Given the description of an element on the screen output the (x, y) to click on. 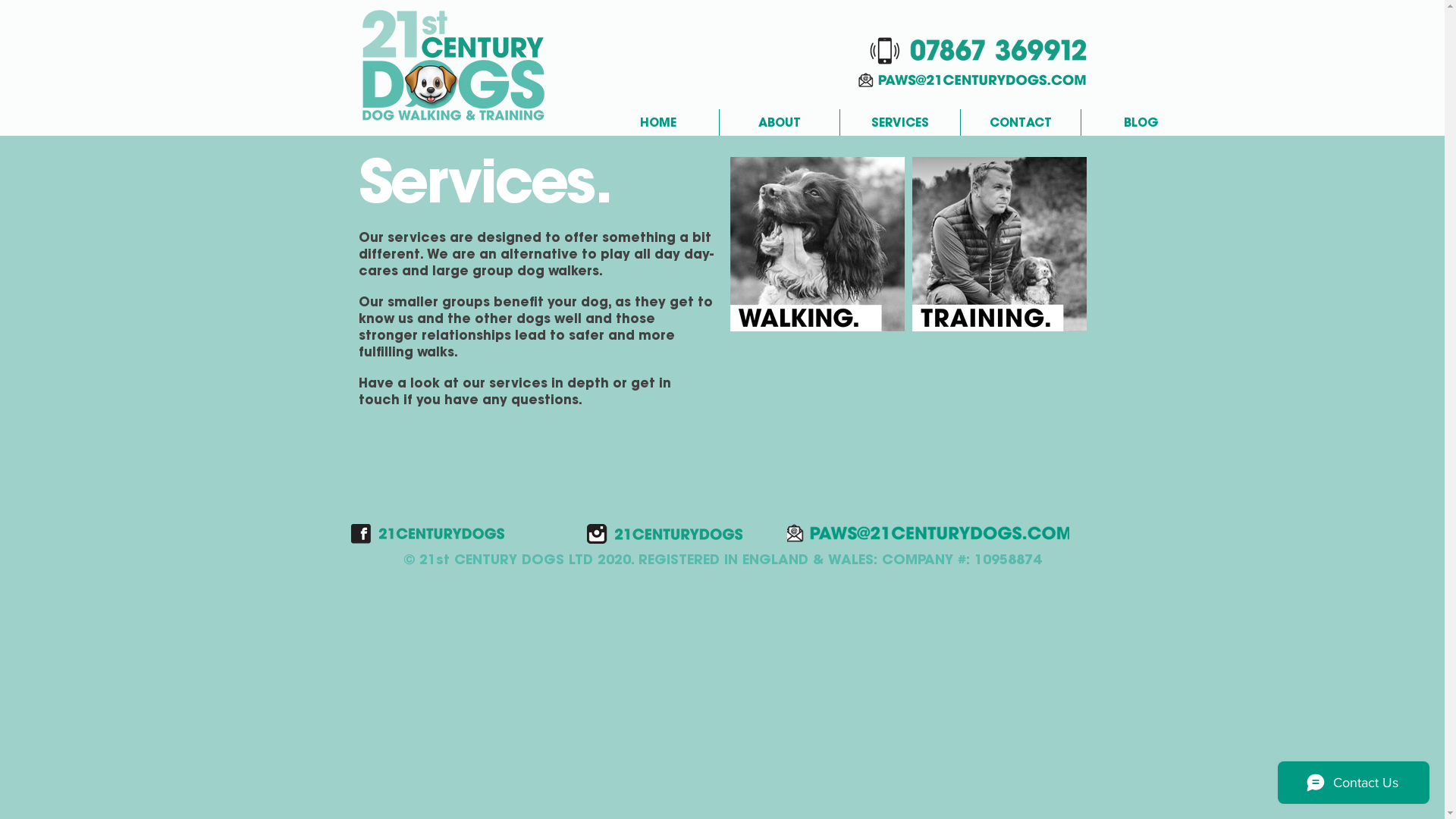
HOME Element type: text (657, 122)
TWIPLA (Visitor Analytics) Element type: hover (1442, 4)
CONTACT Element type: text (1019, 122)
ABOUT Element type: text (778, 122)
SERVICES Element type: text (900, 122)
BLOG Element type: text (1141, 122)
